Given the description of an element on the screen output the (x, y) to click on. 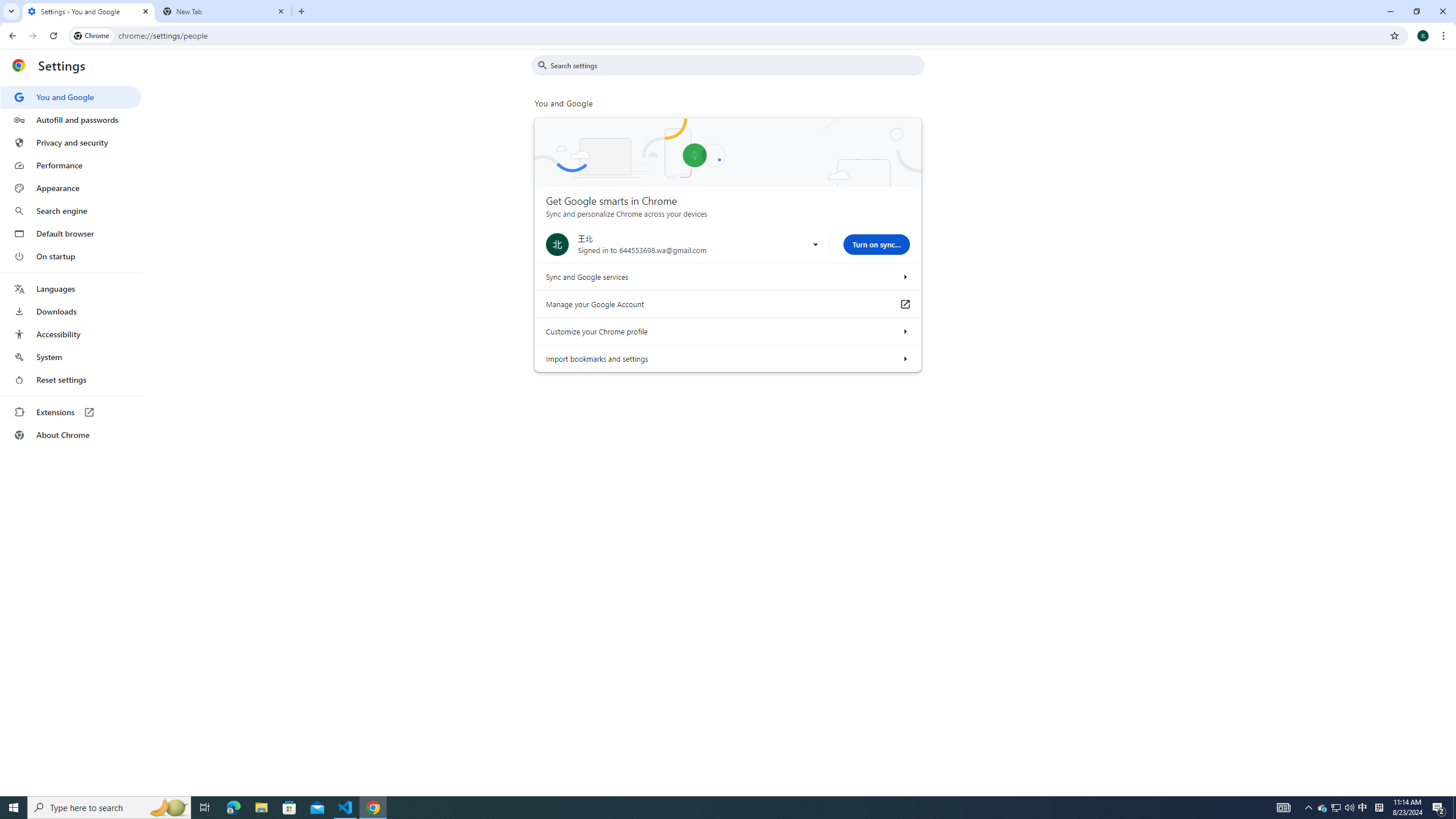
Extensions (70, 412)
Customize your Chrome profile (904, 330)
Settings - You and Google (88, 11)
Downloads (70, 311)
Performance (70, 164)
About Chrome (70, 434)
Manage your Google Account (904, 303)
AutomationID: menu (71, 265)
New Tab (224, 11)
